Given the description of an element on the screen output the (x, y) to click on. 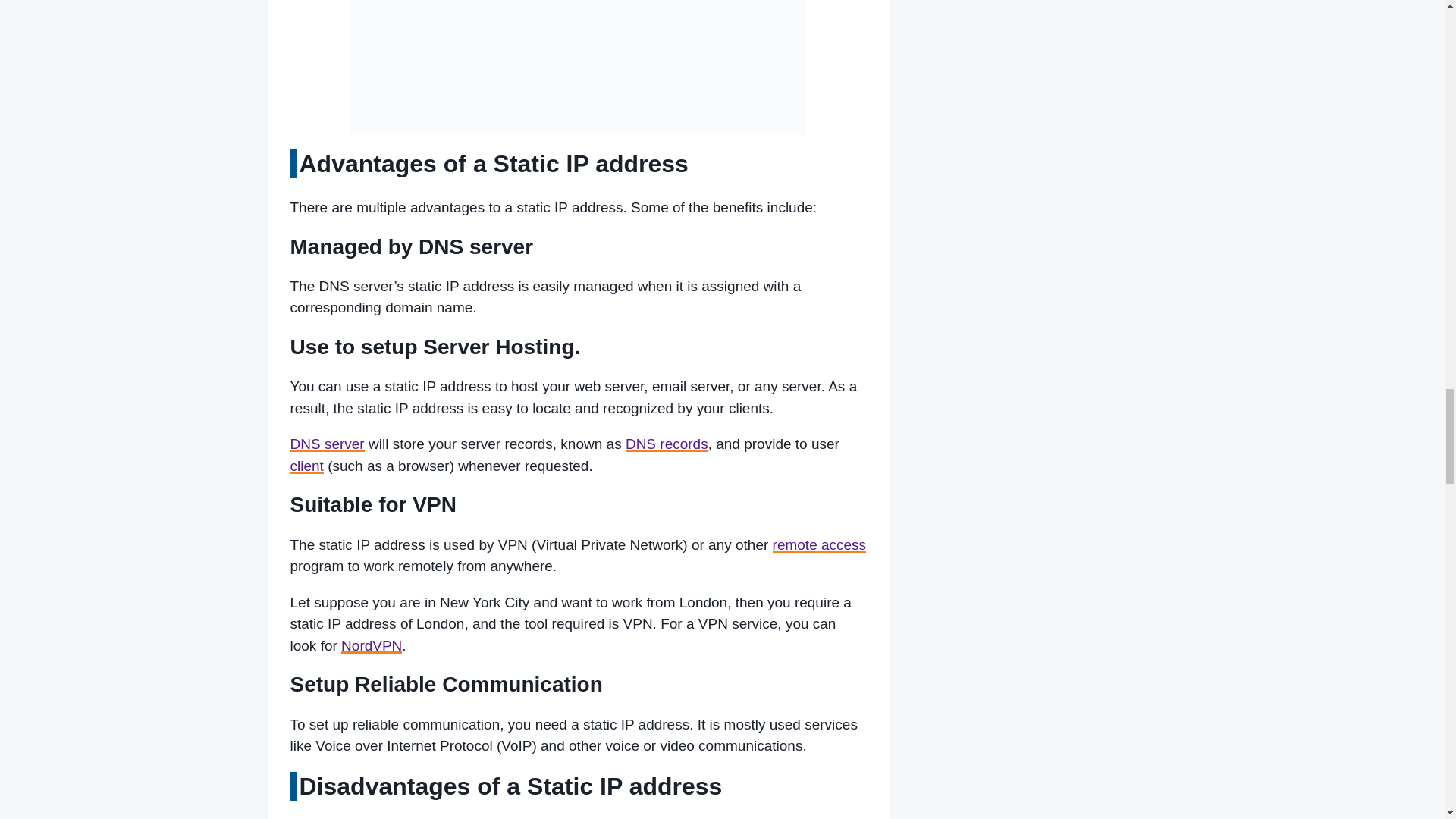
Dynamic IP address vs Static IP address (577, 67)
client (306, 465)
NordVPN (370, 645)
remote access (819, 544)
NordVPN (370, 645)
DNS server (326, 443)
DNS records (666, 443)
